Given the description of an element on the screen output the (x, y) to click on. 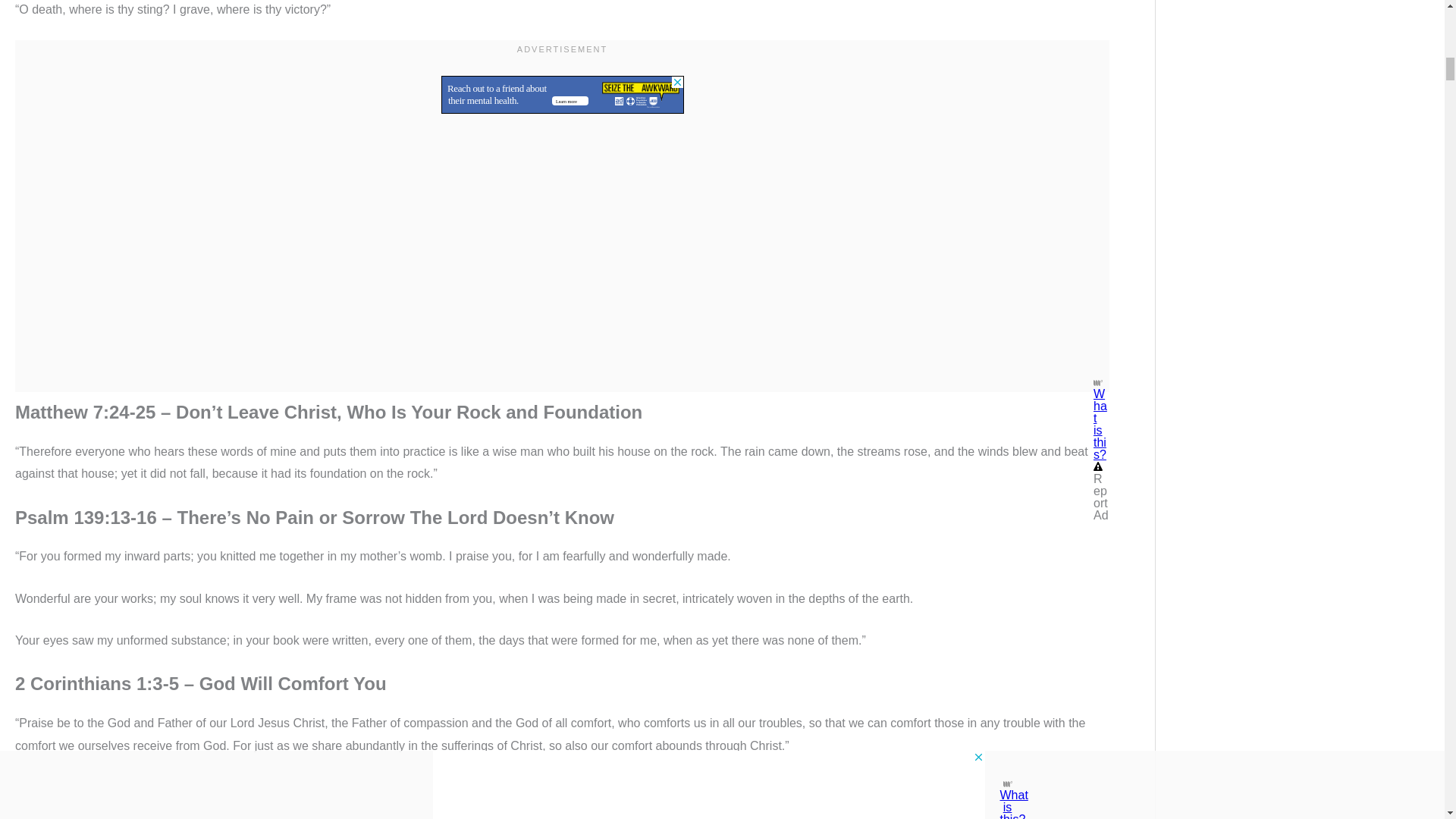
3rd party ad content (562, 77)
